Given the description of an element on the screen output the (x, y) to click on. 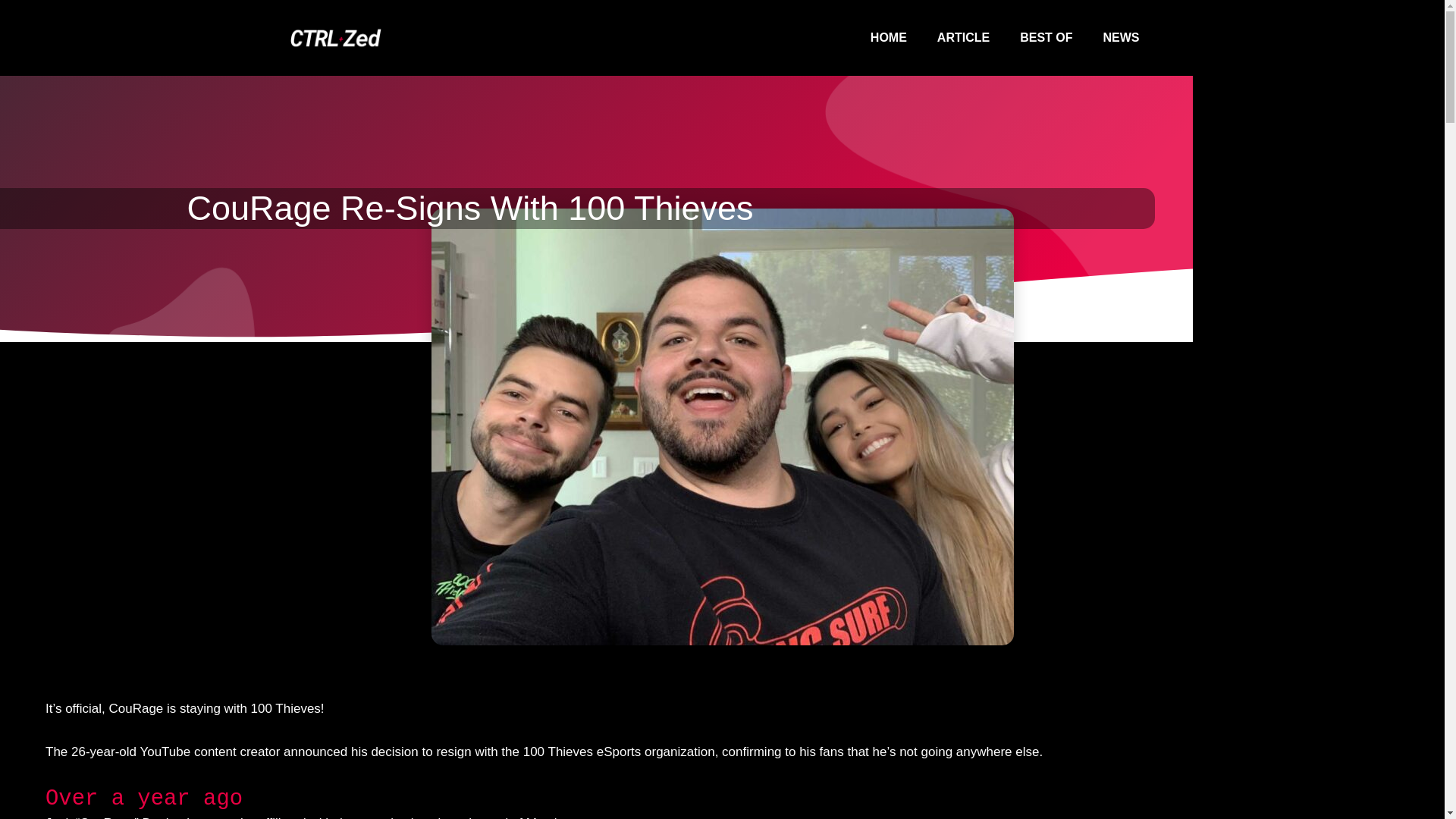
BEST OF (1045, 38)
ARTICLE (962, 38)
